Given the description of an element on the screen output the (x, y) to click on. 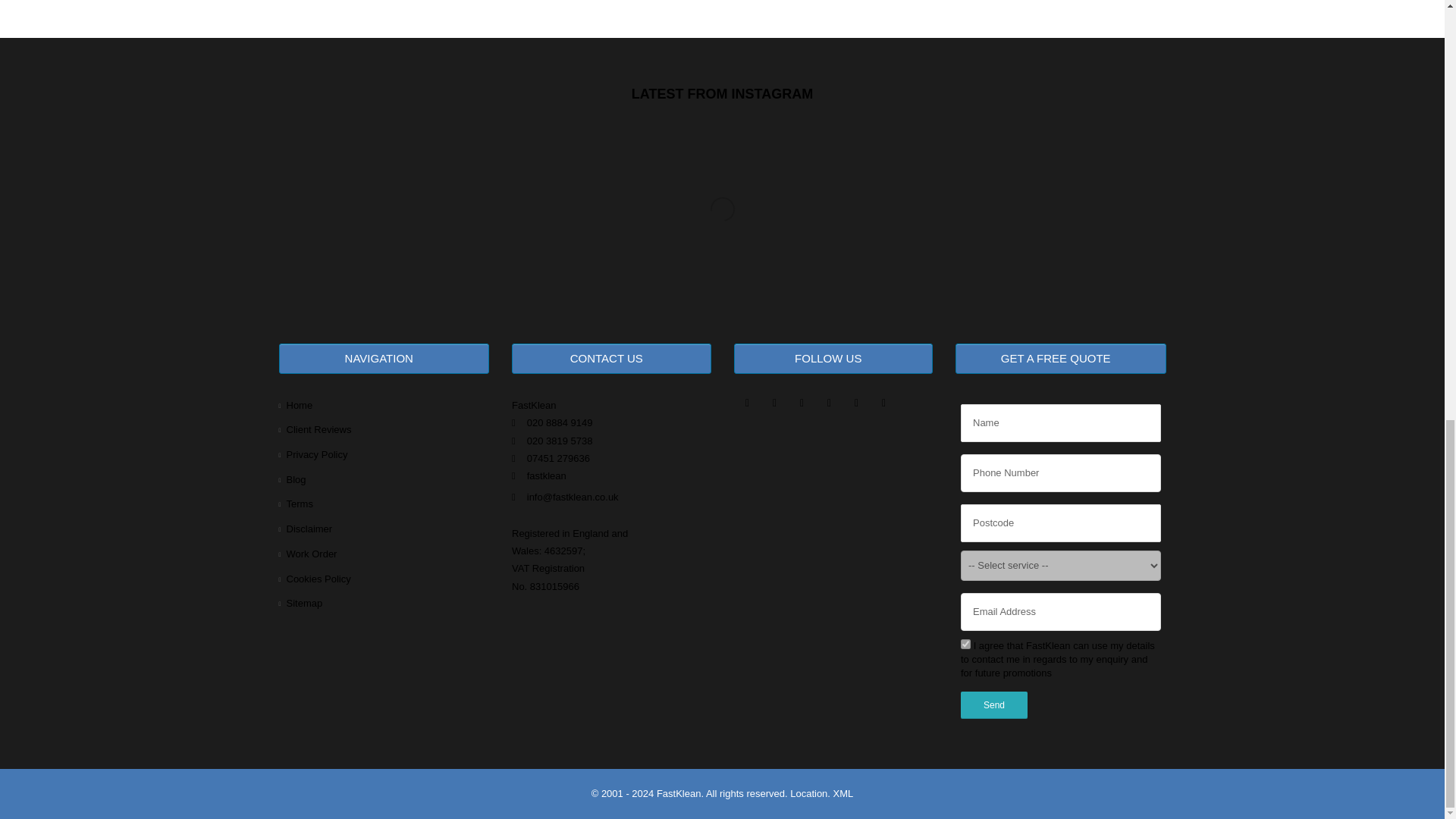
Accepted Payments (595, 624)
1 (965, 644)
Send (993, 705)
Instagram (801, 408)
Rss (884, 408)
Youtube (856, 408)
Twitter (774, 408)
Pinterest (828, 408)
Facebook (747, 408)
